Given the description of an element on the screen output the (x, y) to click on. 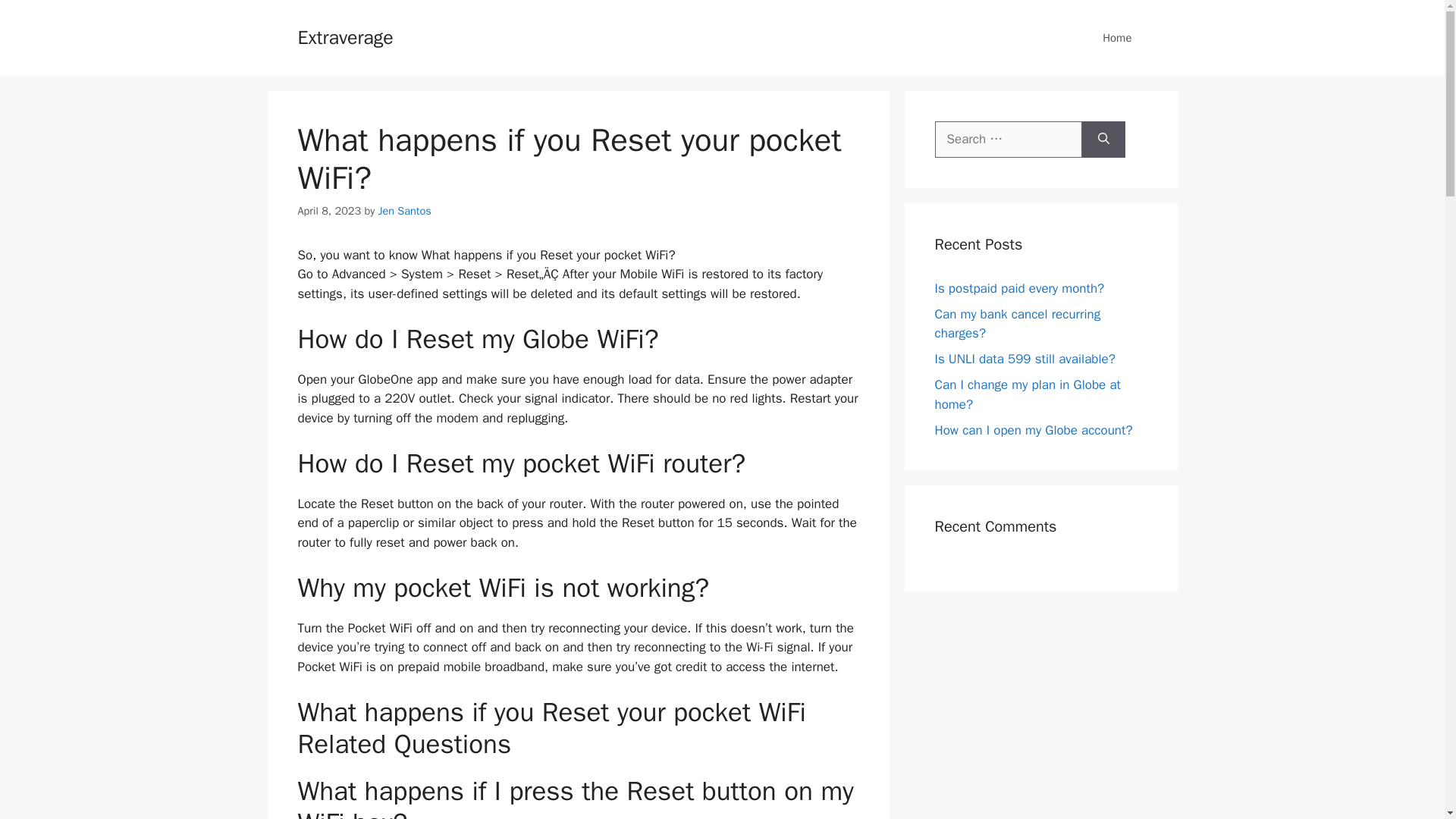
Jen Santos (404, 210)
Extraverage (345, 37)
View all posts by Jen Santos (404, 210)
Home (1117, 37)
Is postpaid paid every month? (1018, 288)
Can my bank cancel recurring charges? (1017, 324)
Can I change my plan in Globe at home? (1026, 394)
How can I open my Globe account? (1033, 429)
Search for: (1007, 139)
Is UNLI data 599 still available? (1024, 358)
